Given the description of an element on the screen output the (x, y) to click on. 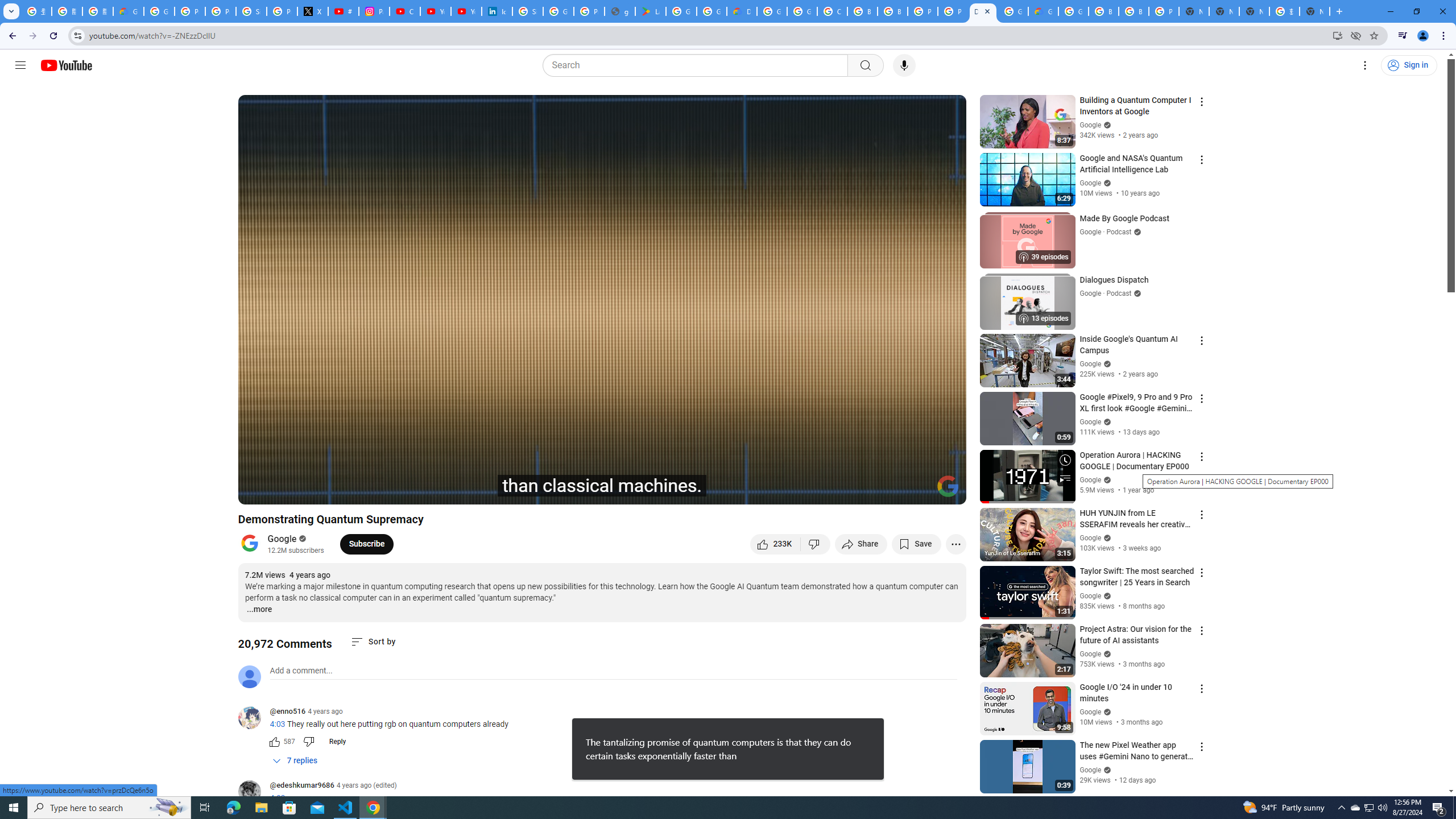
Sign in - Google Accounts (527, 11)
Search with your voice (903, 65)
Browse Chrome as a guest - Computer - Google Chrome Help (862, 11)
New Tab (1314, 11)
Browse Chrome as a guest - Computer - Google Chrome Help (892, 11)
Intro (383, 490)
4 years ago (edited) (366, 785)
